Given the description of an element on the screen output the (x, y) to click on. 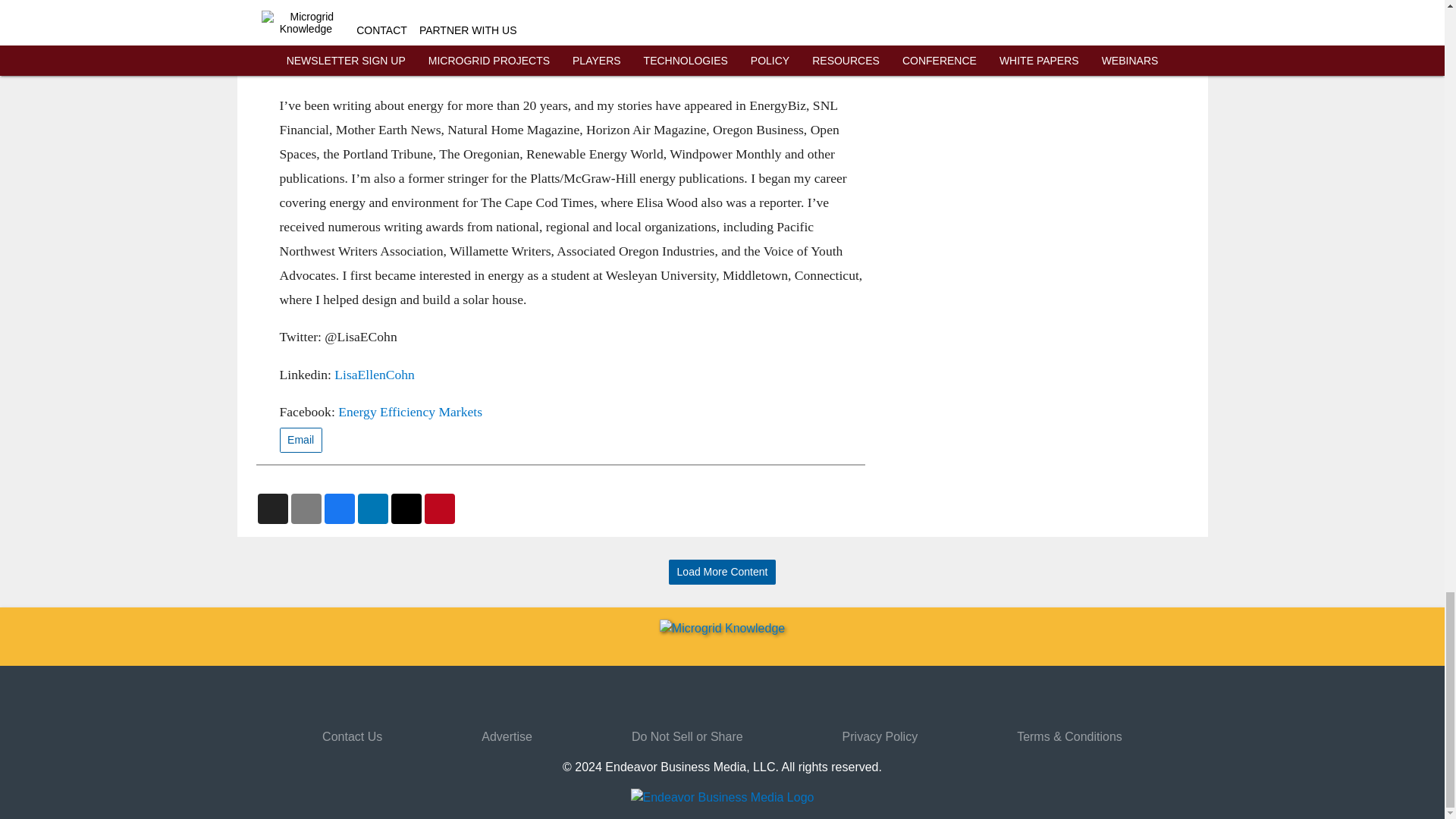
Energy Efficiency Markets (409, 411)
LisaEllenCohn (374, 374)
Email (300, 439)
